Given the description of an element on the screen output the (x, y) to click on. 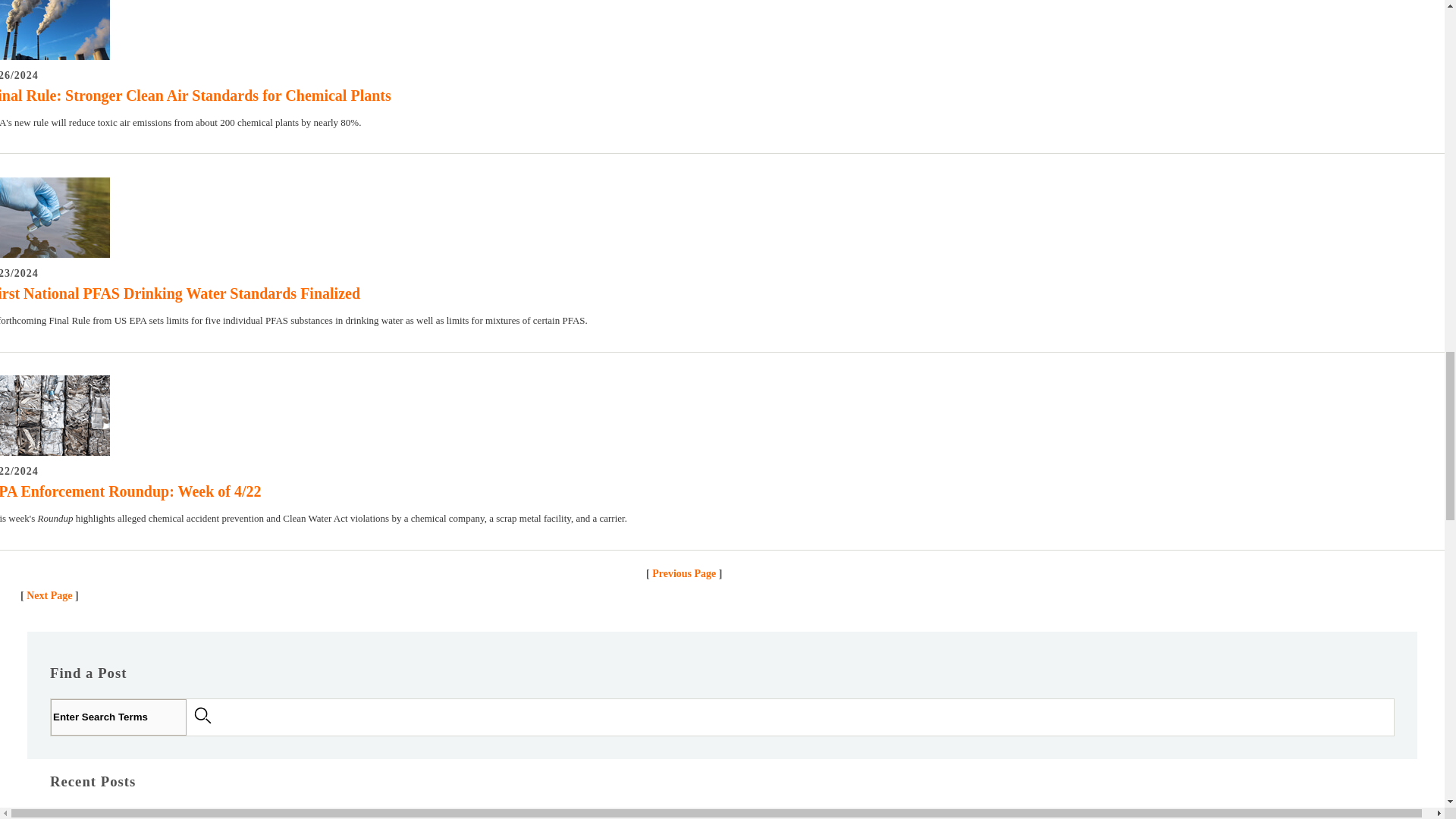
. (205, 715)
